Given the description of an element on the screen output the (x, y) to click on. 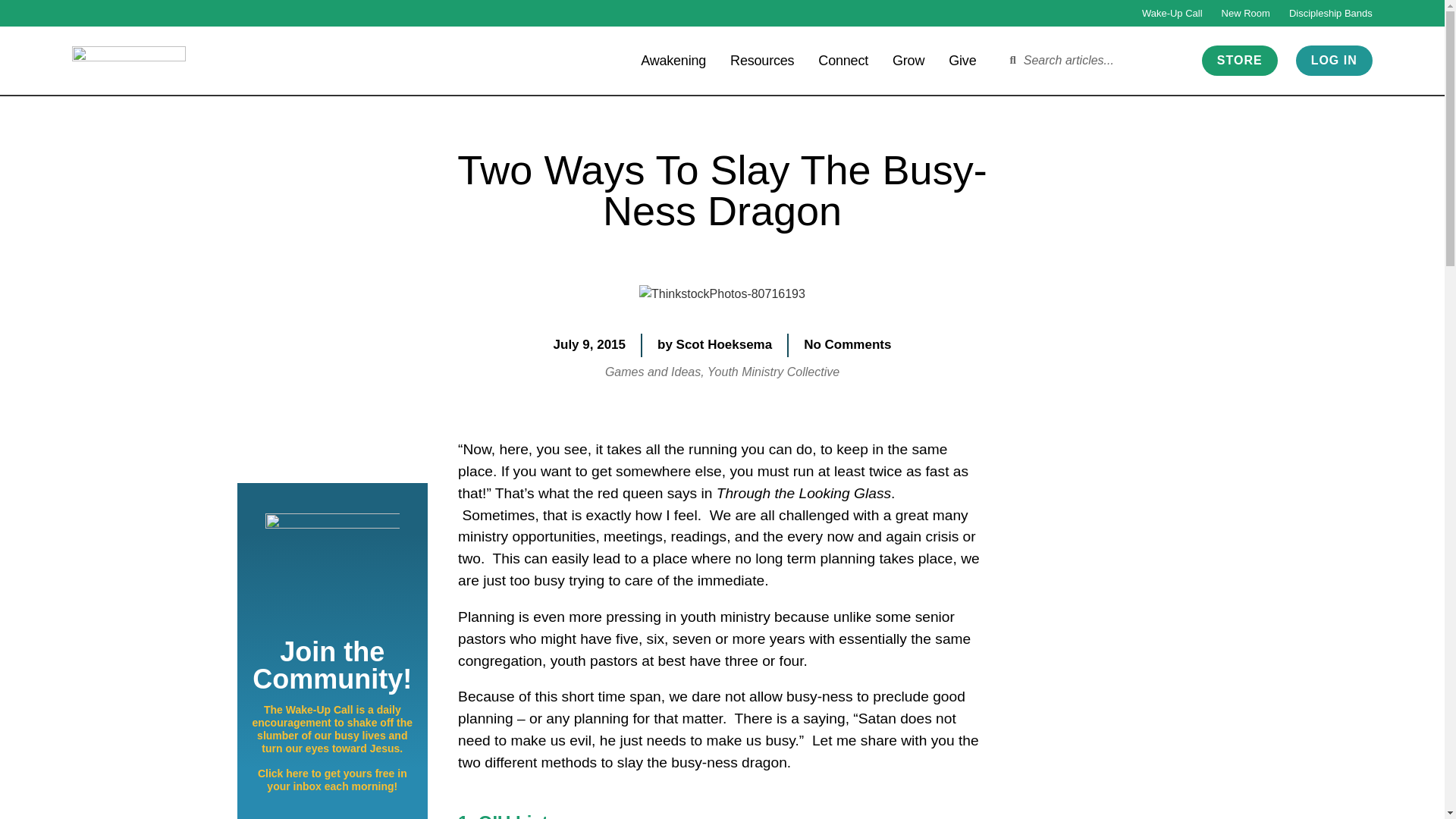
Grow (908, 59)
Wake-Up Call (1171, 13)
Connect (842, 59)
New Room (1245, 13)
Discipleship Bands (1330, 13)
Resources (761, 59)
ThinkstockPhotos-80716193 (722, 294)
Awakening (673, 59)
